Given the description of an element on the screen output the (x, y) to click on. 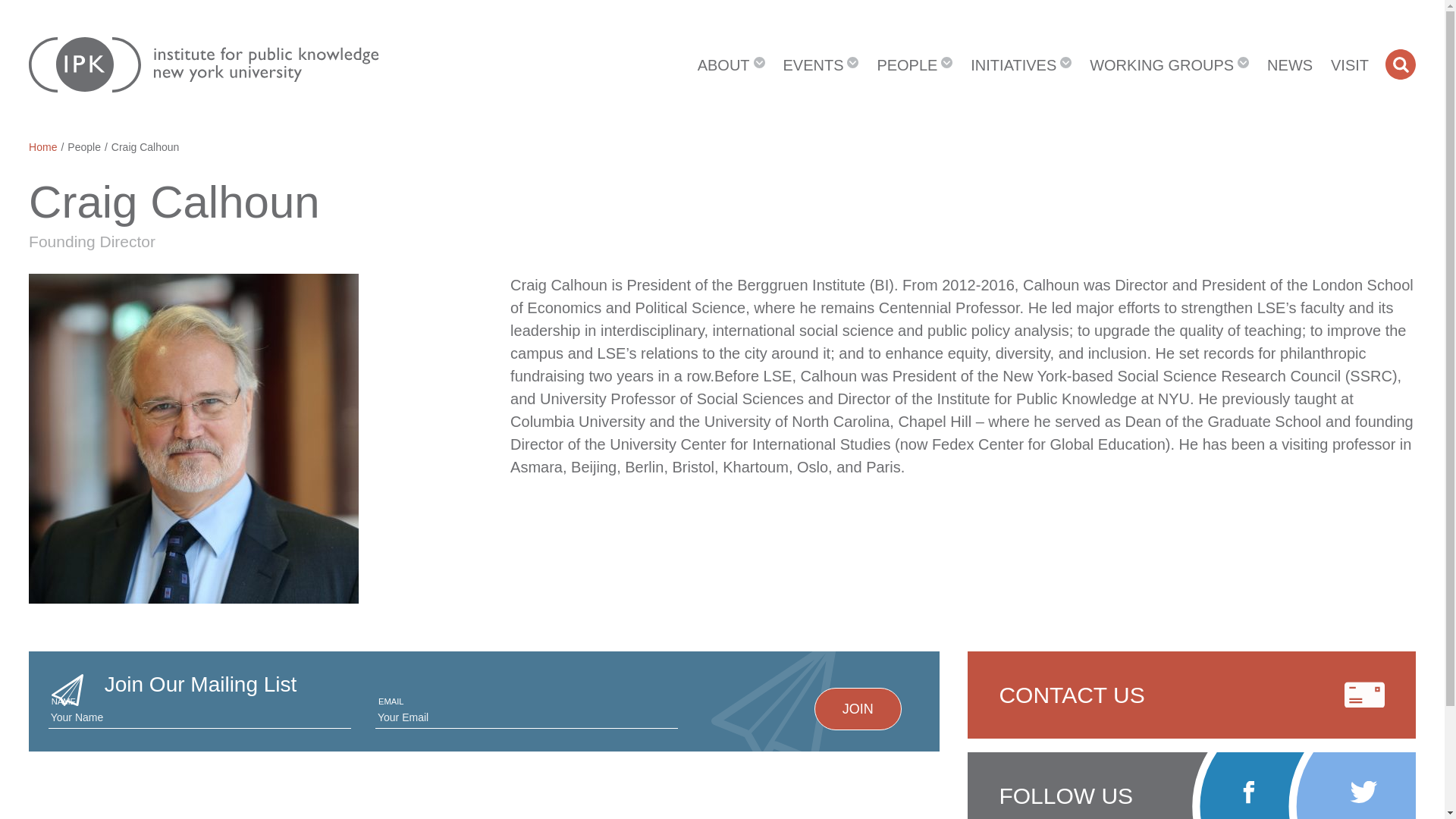
NEWS (1289, 64)
PEOPLE (914, 64)
JOIN (857, 708)
Follow Us on Twitter (1364, 792)
OPEN SEARCH FIELD (1400, 63)
EVENTS (820, 64)
INITIATIVES (1020, 64)
WORKING GROUPS (1168, 64)
Institute for Public Knowledge (203, 64)
Follow Us on Facebook (1248, 792)
ABOUT (731, 64)
CONTACT US (1191, 693)
Home (42, 146)
People (83, 146)
VISIT (1349, 64)
